Given the description of an element on the screen output the (x, y) to click on. 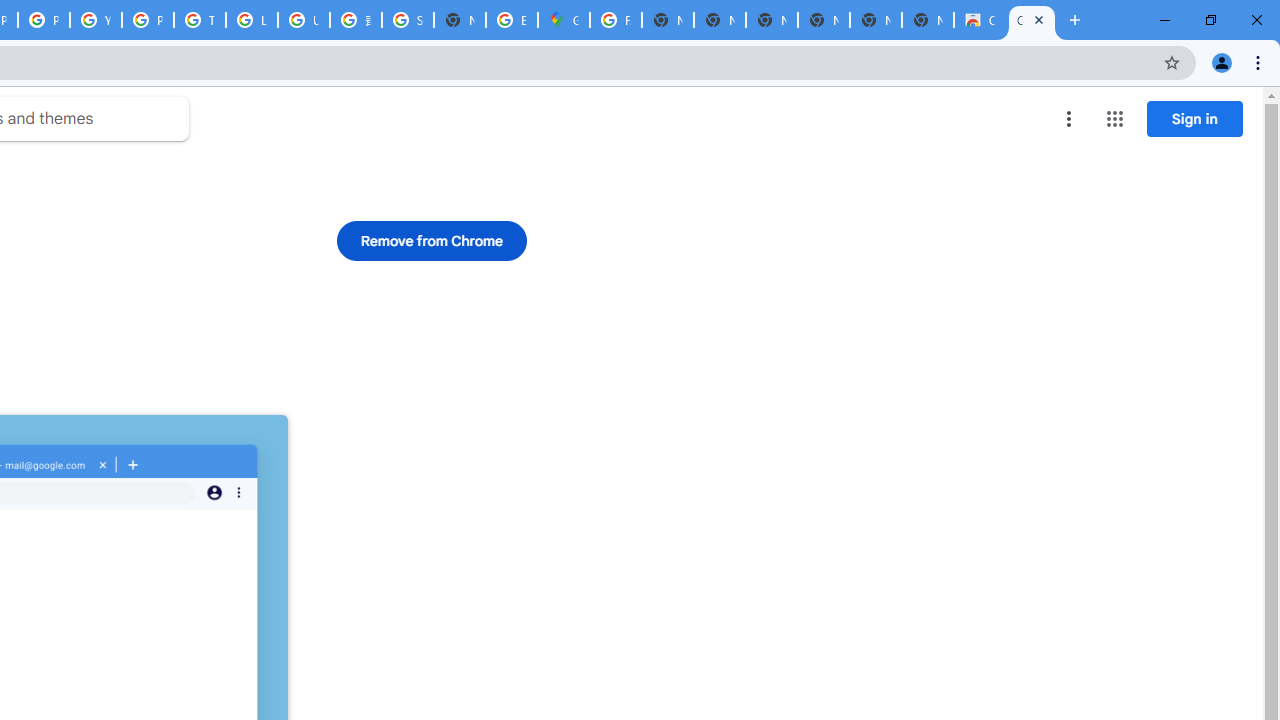
Sign in - Google Accounts (407, 20)
New Tab (459, 20)
More options menu (1069, 118)
New Tab (927, 20)
YouTube (95, 20)
Classic Blue - Chrome Web Store (1032, 20)
Classic Blue - Chrome Web Store (979, 20)
Remove from Chrome (431, 240)
